Given the description of an element on the screen output the (x, y) to click on. 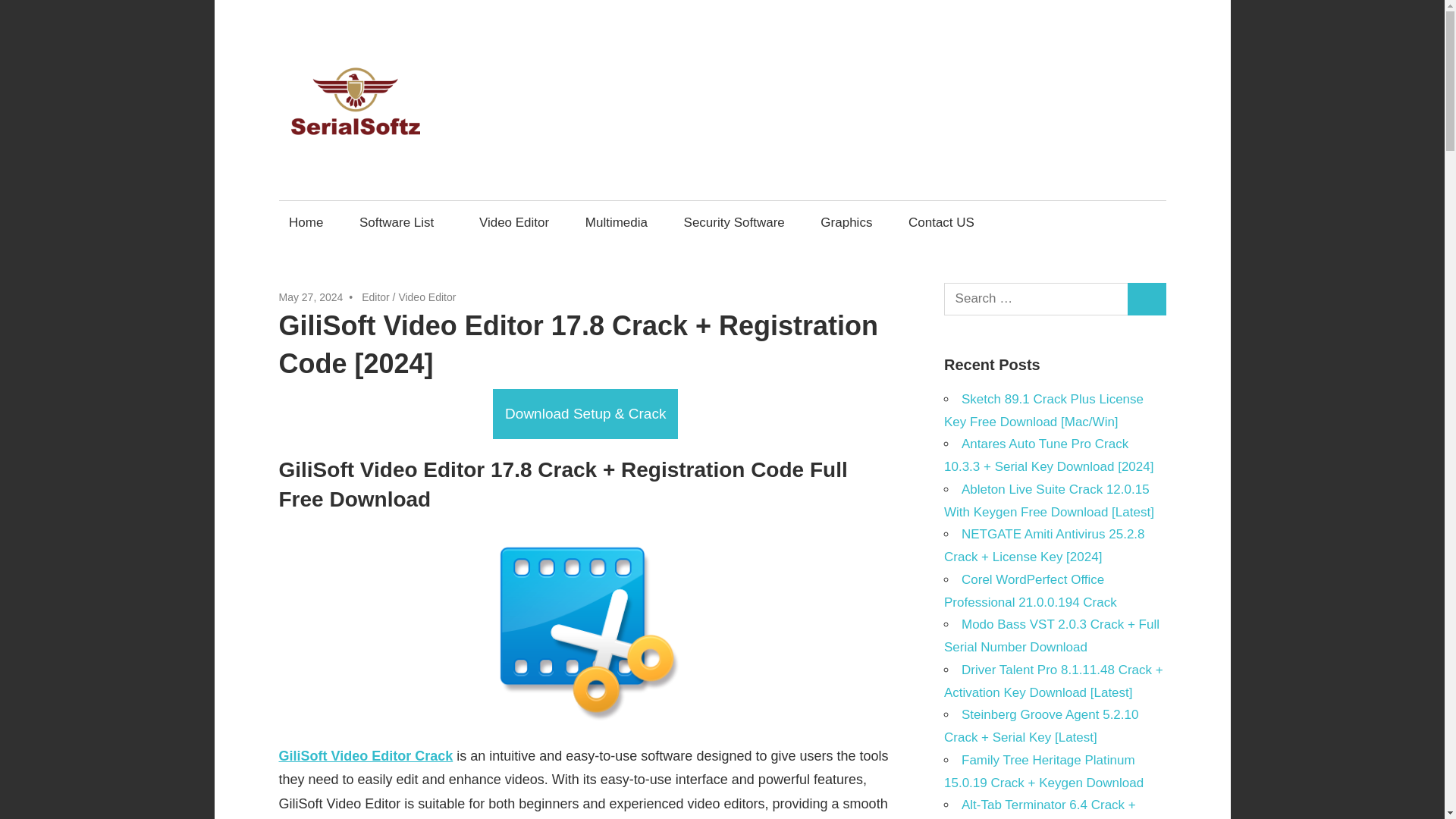
Software List (400, 221)
Video Editor (513, 221)
Multimedia (616, 221)
Home (306, 221)
Graphics (846, 221)
Editor (375, 297)
May 27, 2024 (311, 297)
Contact US (941, 221)
12:50 pm (311, 297)
GiliSoft Video Editor Crack (365, 755)
